Given the description of an element on the screen output the (x, y) to click on. 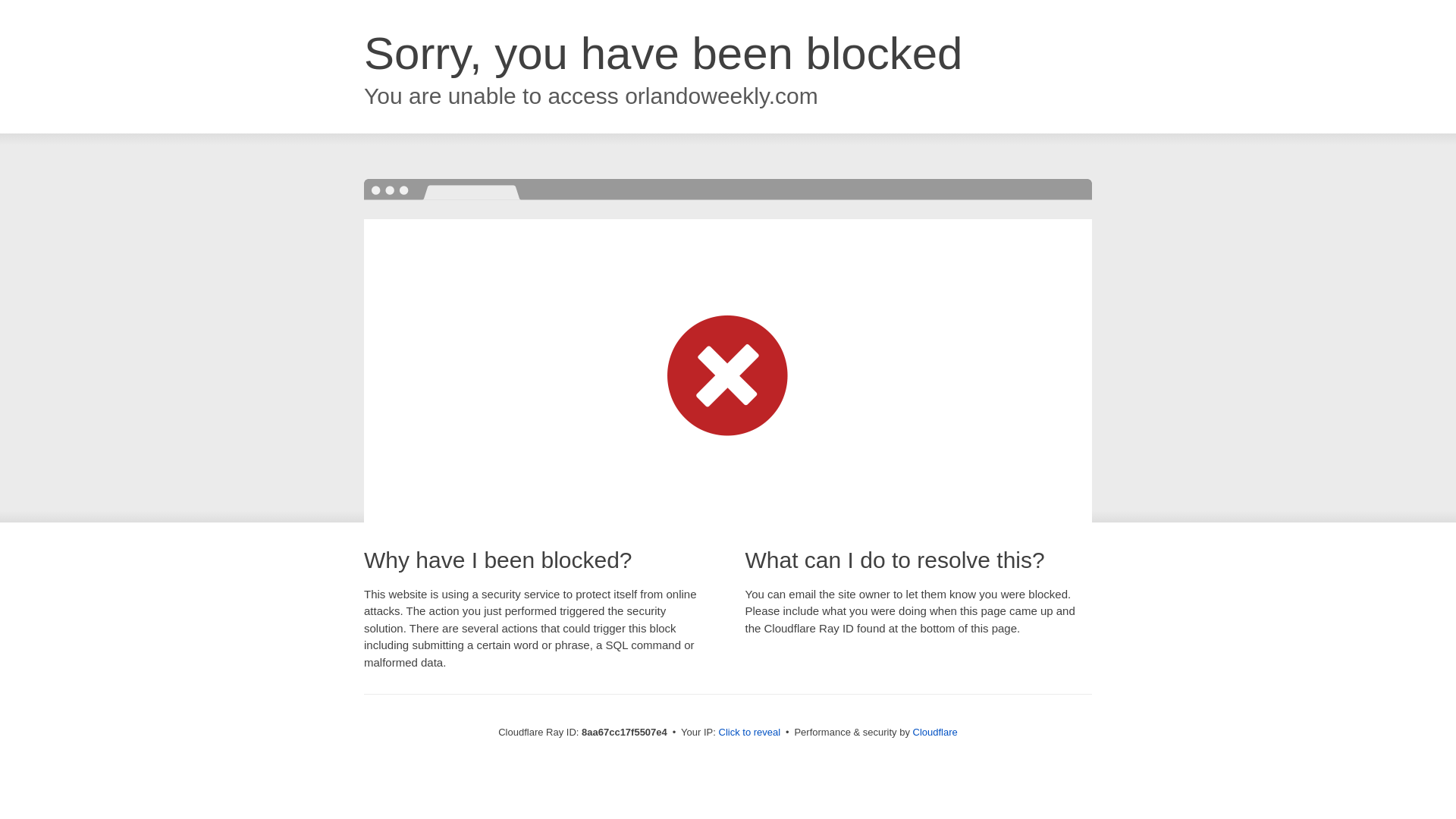
Click to reveal (749, 732)
Cloudflare (935, 731)
